Given the description of an element on the screen output the (x, y) to click on. 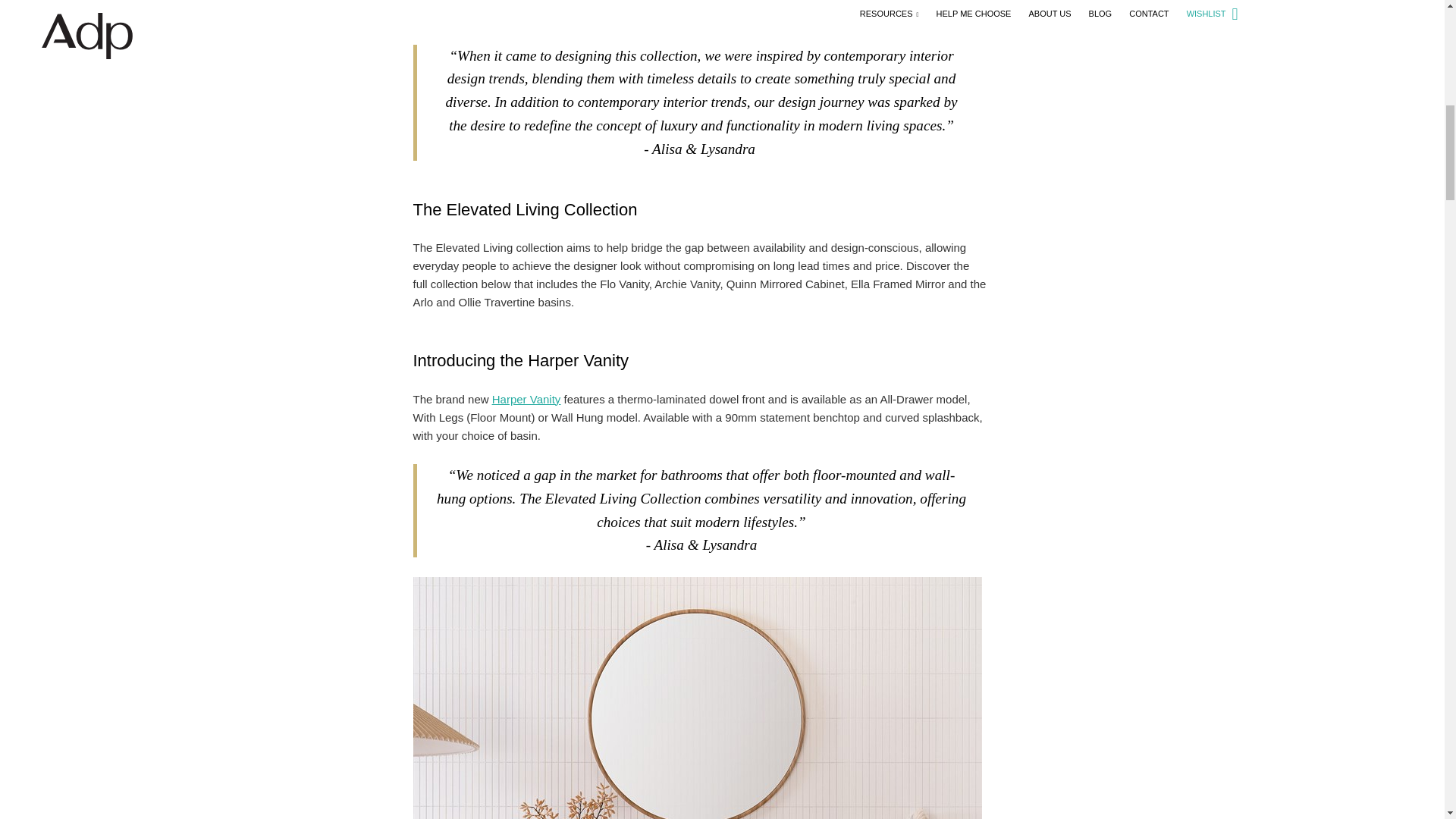
Harper (526, 399)
Elevated Living (562, 2)
